Given the description of an element on the screen output the (x, y) to click on. 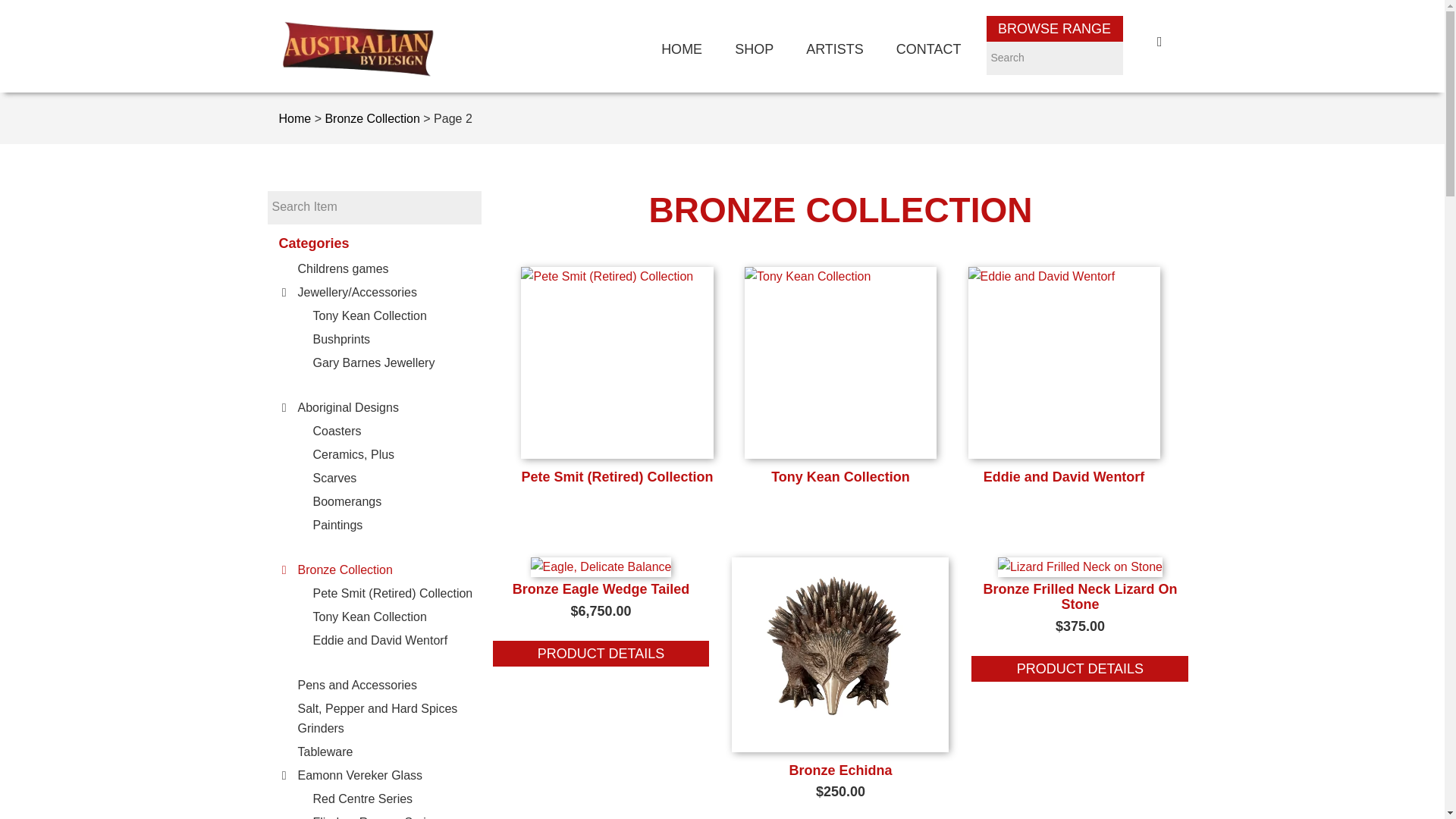
Ceramics, Plus (353, 454)
Eddie and David Wentorf (379, 640)
ARTISTS (834, 49)
Bronze Collection (344, 569)
BROWSE RANGE (1053, 28)
Bronze Eagle Wedge Tailed (601, 653)
Tony Kean Collection (369, 616)
Bronze Collection (371, 118)
Bronze Echidna (840, 748)
Red Centre Series (362, 798)
Gary Barnes Jewellery (373, 362)
Bronze Eagle Wedge Tailed (600, 589)
Tony Kean Collection (369, 315)
Eamonn Vereker Glass (359, 775)
logo-hd (357, 48)
